Given the description of an element on the screen output the (x, y) to click on. 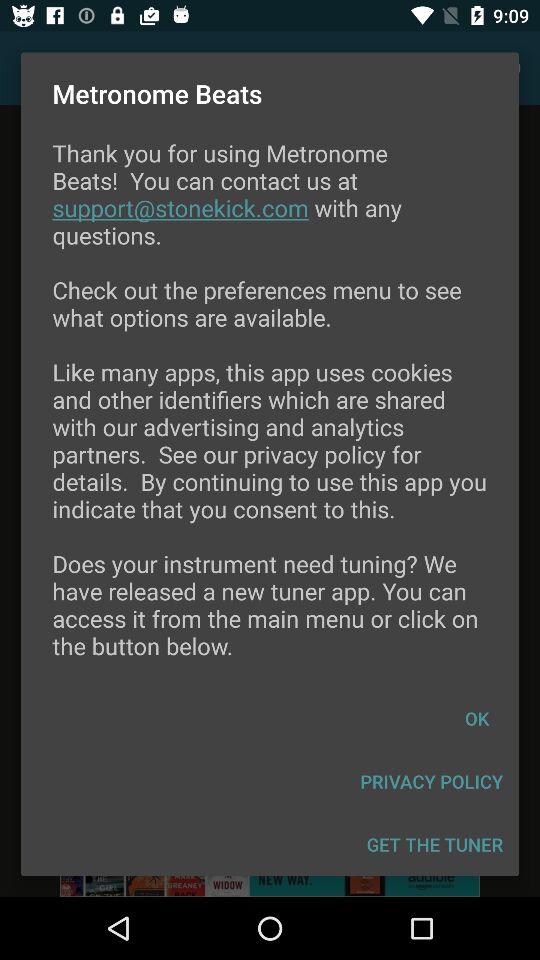
turn off ok item (477, 718)
